Given the description of an element on the screen output the (x, y) to click on. 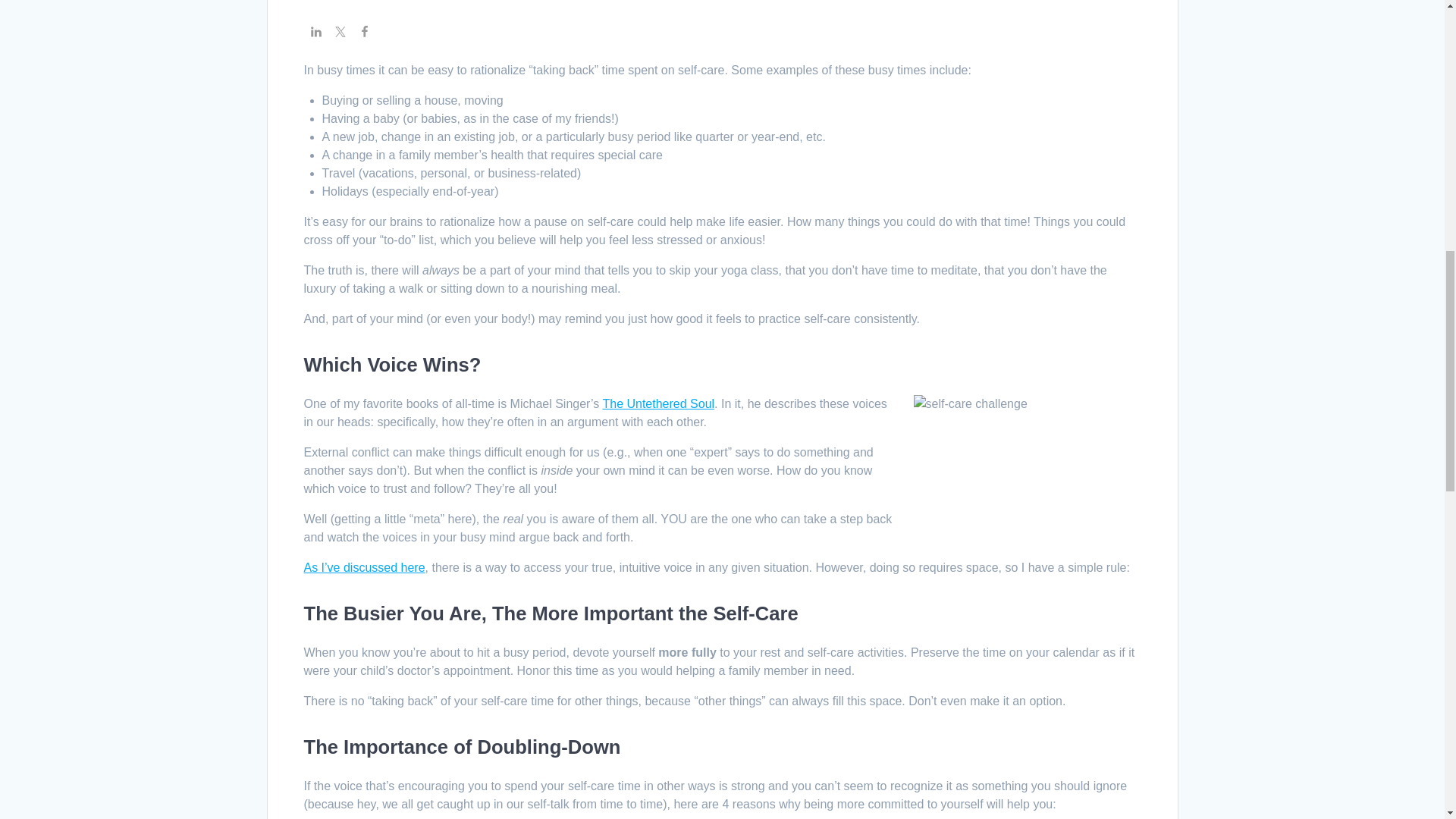
The Untethered Soul (658, 403)
Share on Facebook (363, 33)
Share on LinkedIn (314, 33)
Share on Twitter (339, 33)
